Given the description of an element on the screen output the (x, y) to click on. 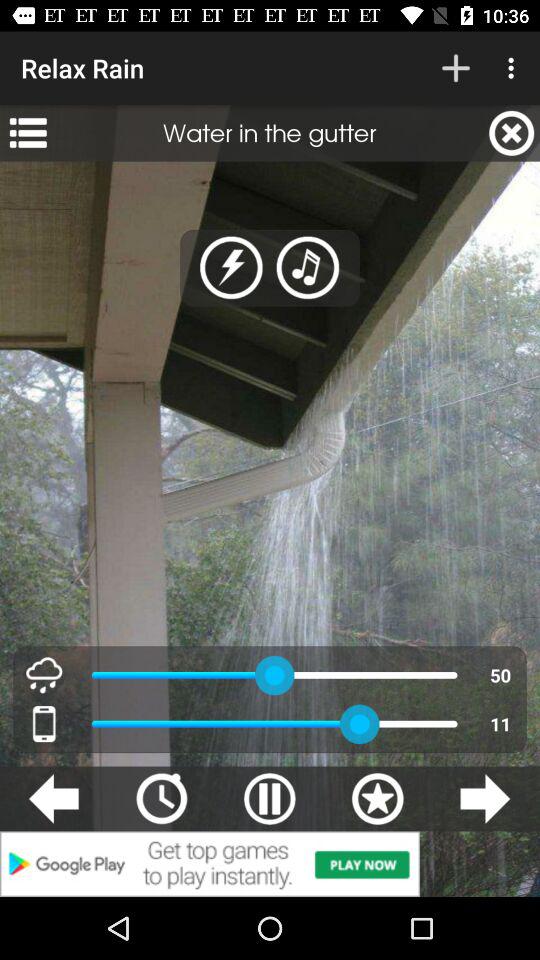
choose item below the water in the icon (308, 267)
